Given the description of an element on the screen output the (x, y) to click on. 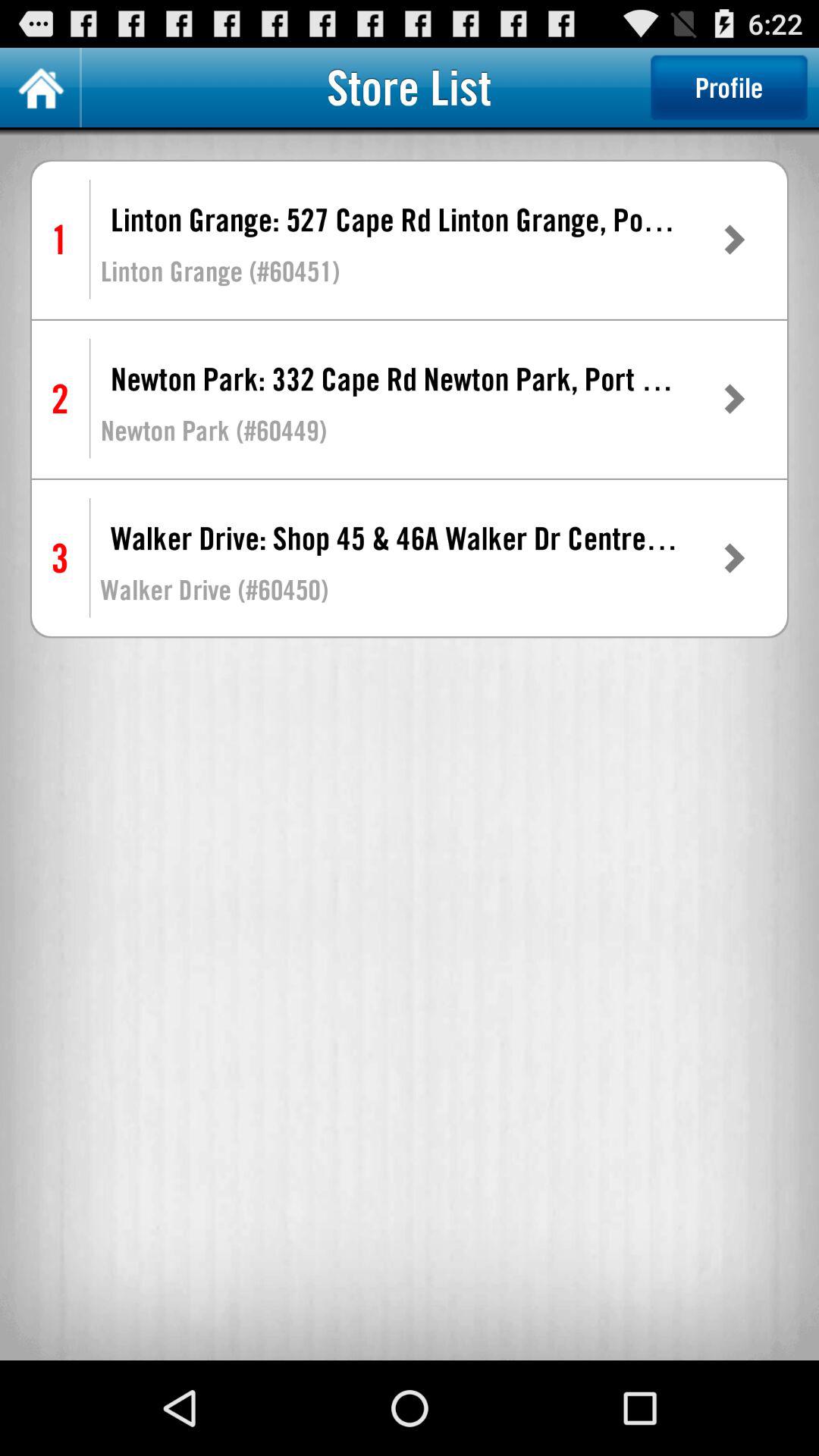
press the app to the right of the newton park 332 item (733, 398)
